Given the description of an element on the screen output the (x, y) to click on. 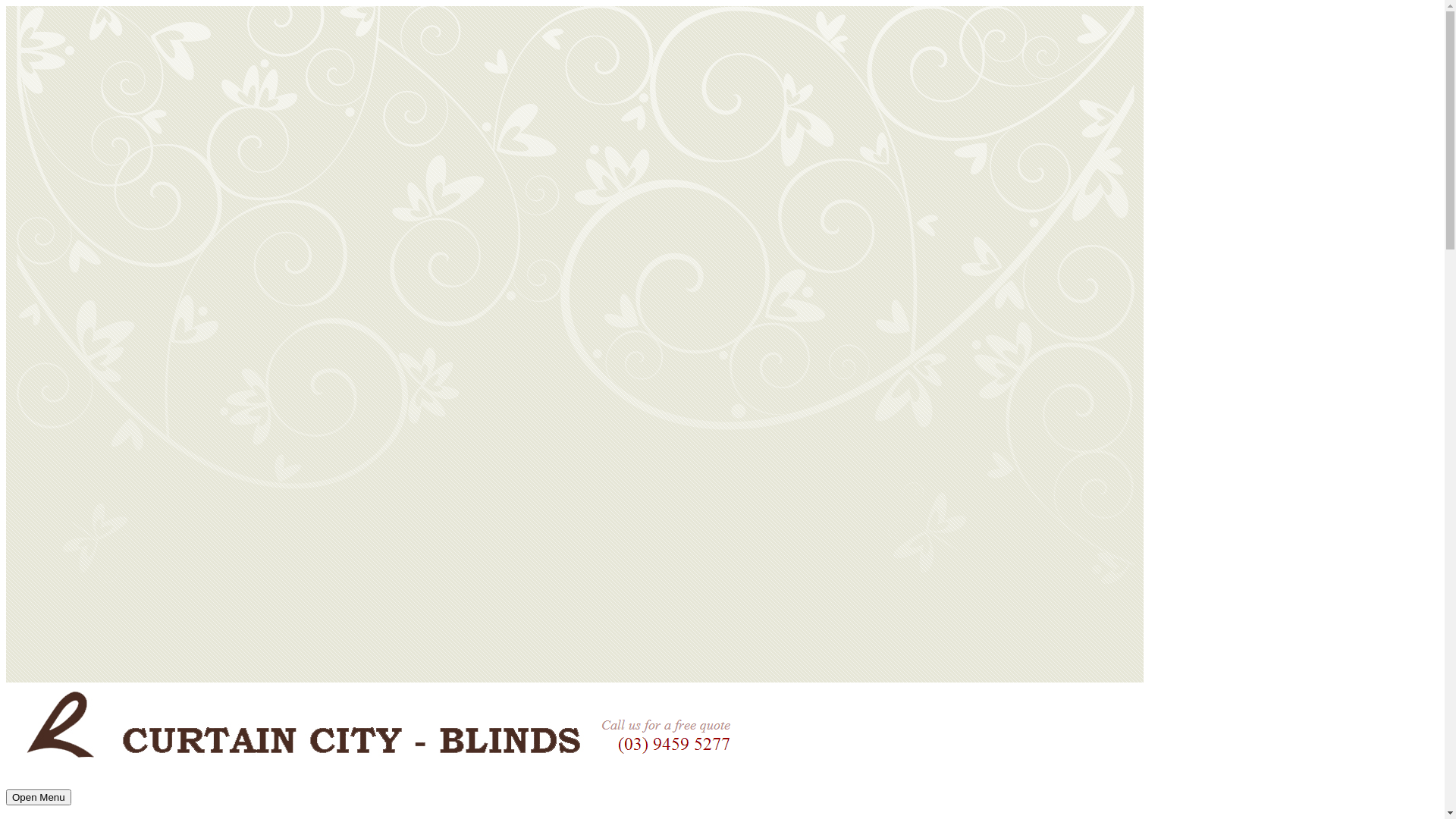
Open Menu Element type: text (38, 797)
